Given the description of an element on the screen output the (x, y) to click on. 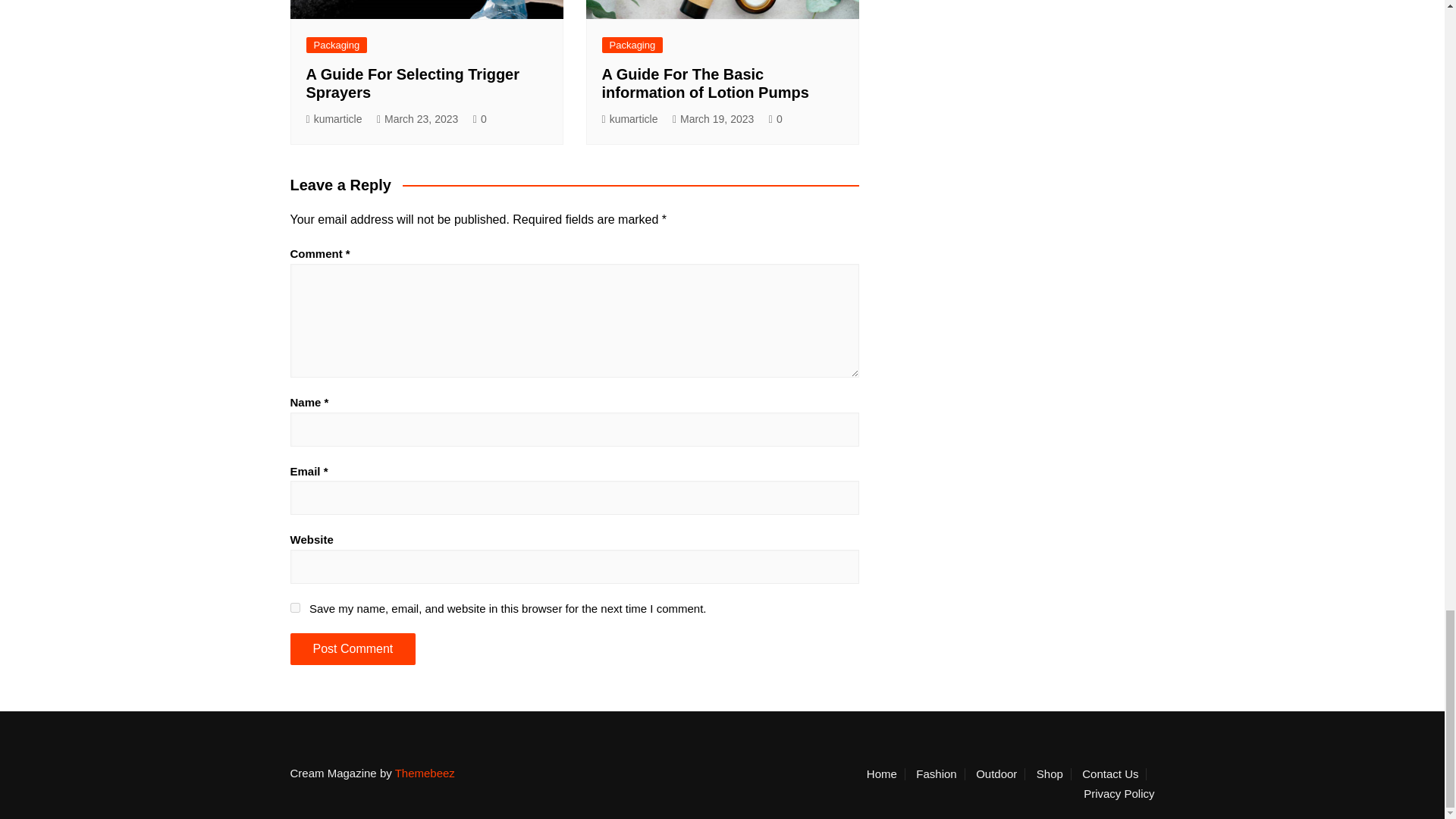
Post Comment (351, 649)
yes (294, 607)
